Given the description of an element on the screen output the (x, y) to click on. 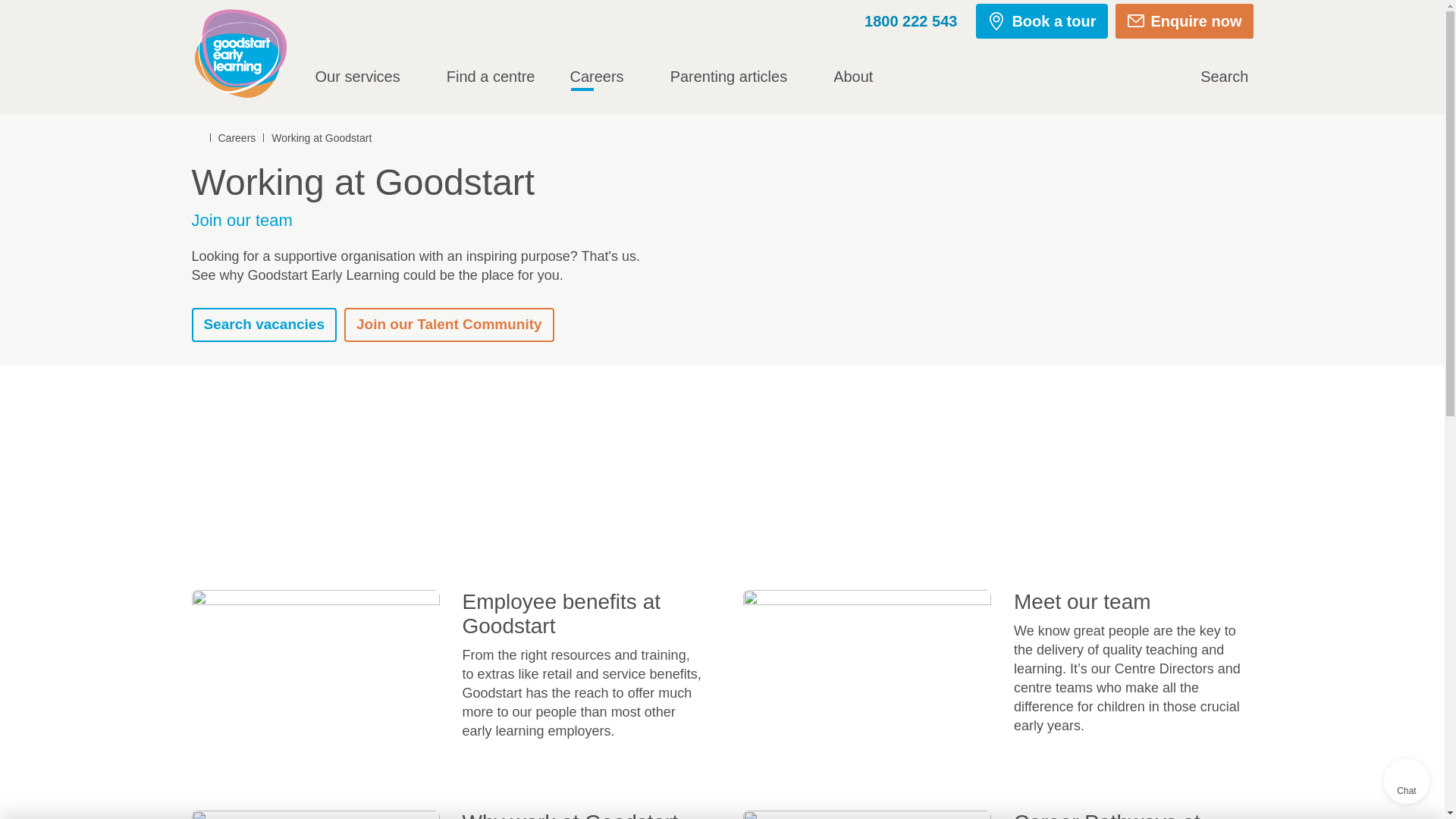
1800 222 543 (897, 20)
Enquire now (1183, 21)
Book a tour (1040, 21)
Careers (601, 76)
Parenting articles (734, 76)
Our services (363, 76)
Goodstart homepage (243, 51)
Find a centre (491, 76)
